Given the description of an element on the screen output the (x, y) to click on. 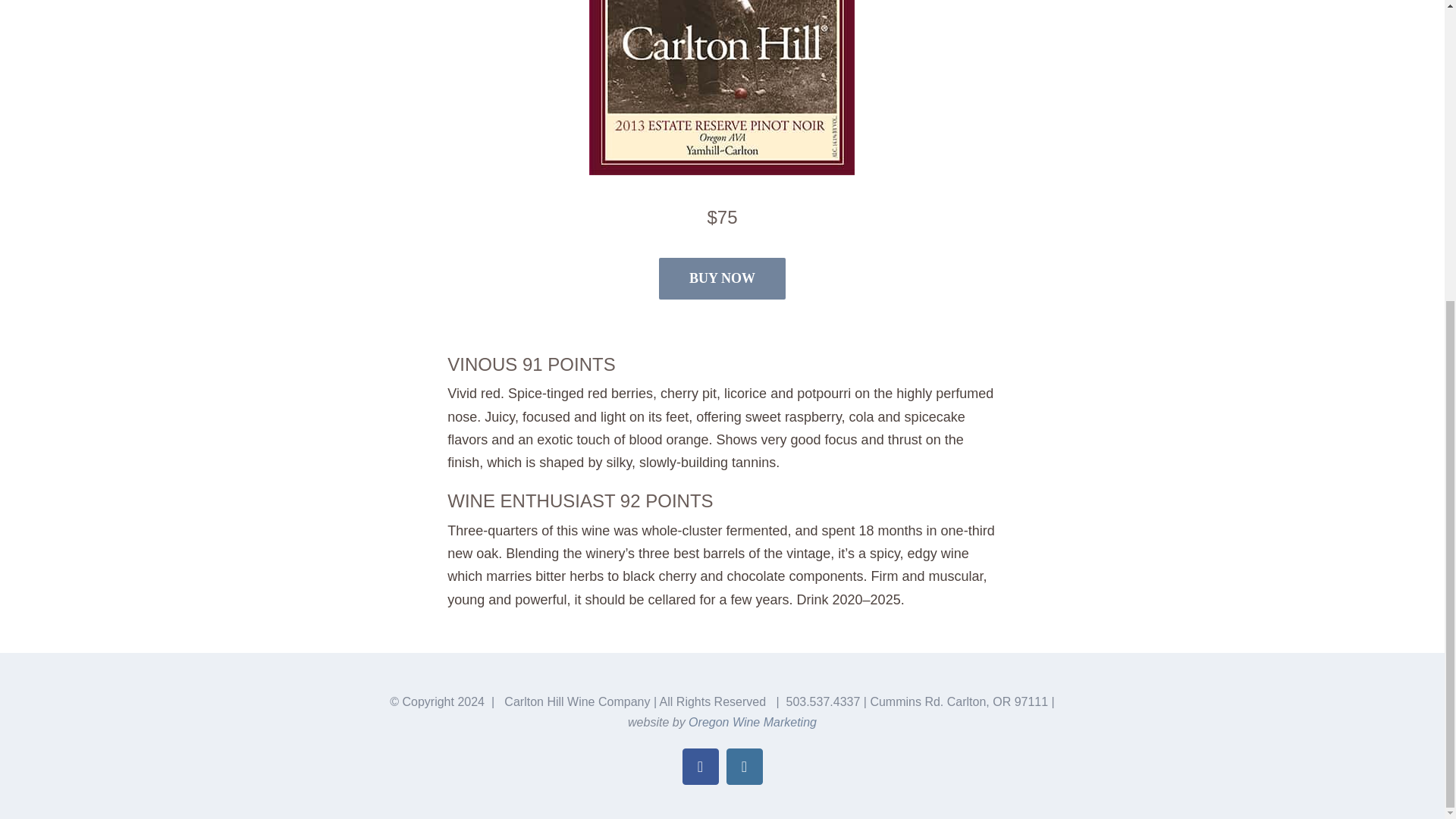
Facebook (700, 766)
carlton-2013-reserve-estate-pinot-340p-LABEL (721, 87)
Instagram (744, 766)
